Given the description of an element on the screen output the (x, y) to click on. 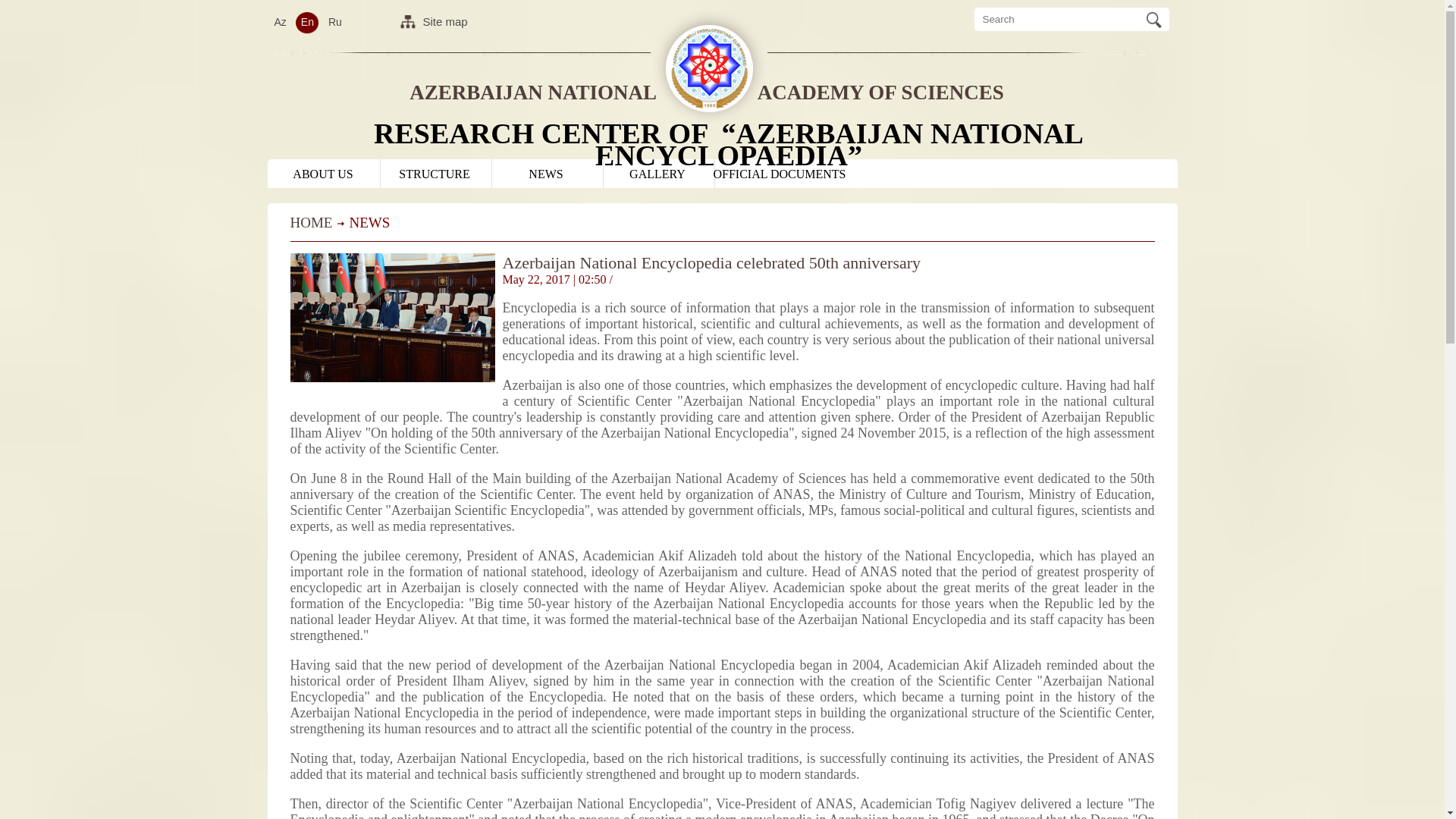
STRUCTURE Element type: text (433, 173)
HOME Element type: text (310, 222)
Scientific Center "Azerbaijan Scientific Encyclopedia" Element type: text (439, 509)
the Ministry of Culture and Tourism Element type: text (919, 494)
Ministry of Education Element type: text (1089, 494)
Ru Element type: text (334, 21)
GALLERY Element type: text (657, 173)
Az Element type: text (279, 21)
Tofig Nagiyev Element type: text (975, 803)
Akif Alizadeh Element type: text (697, 555)
NEWS Element type: text (545, 173)
Site map Element type: text (462, 24)
En Element type: text (307, 21)
OFFICIAL DOCUMENTS Element type: text (778, 173)
ABOUT US Element type: text (322, 173)
